Given the description of an element on the screen output the (x, y) to click on. 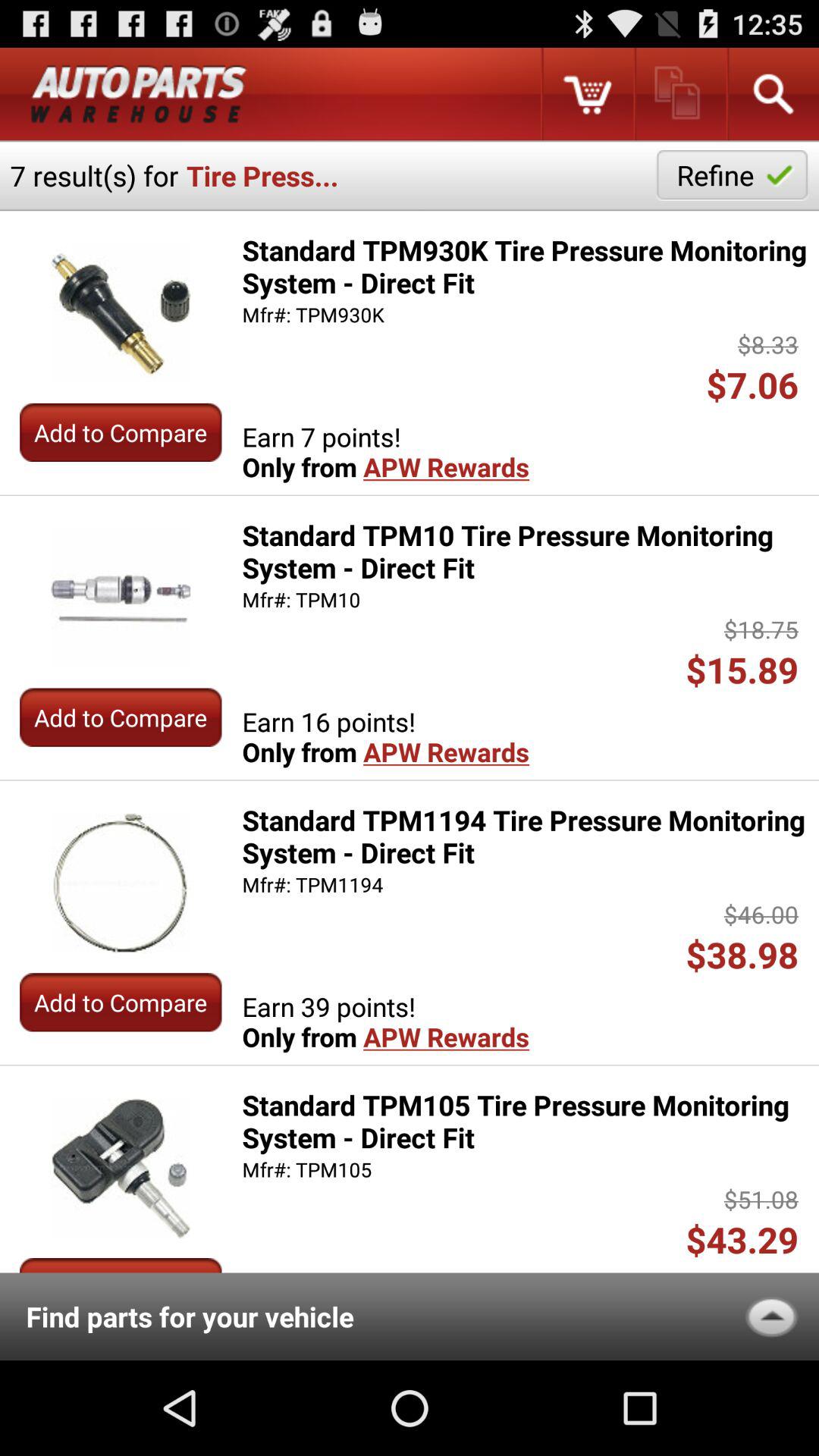
view cart (586, 93)
